Given the description of an element on the screen output the (x, y) to click on. 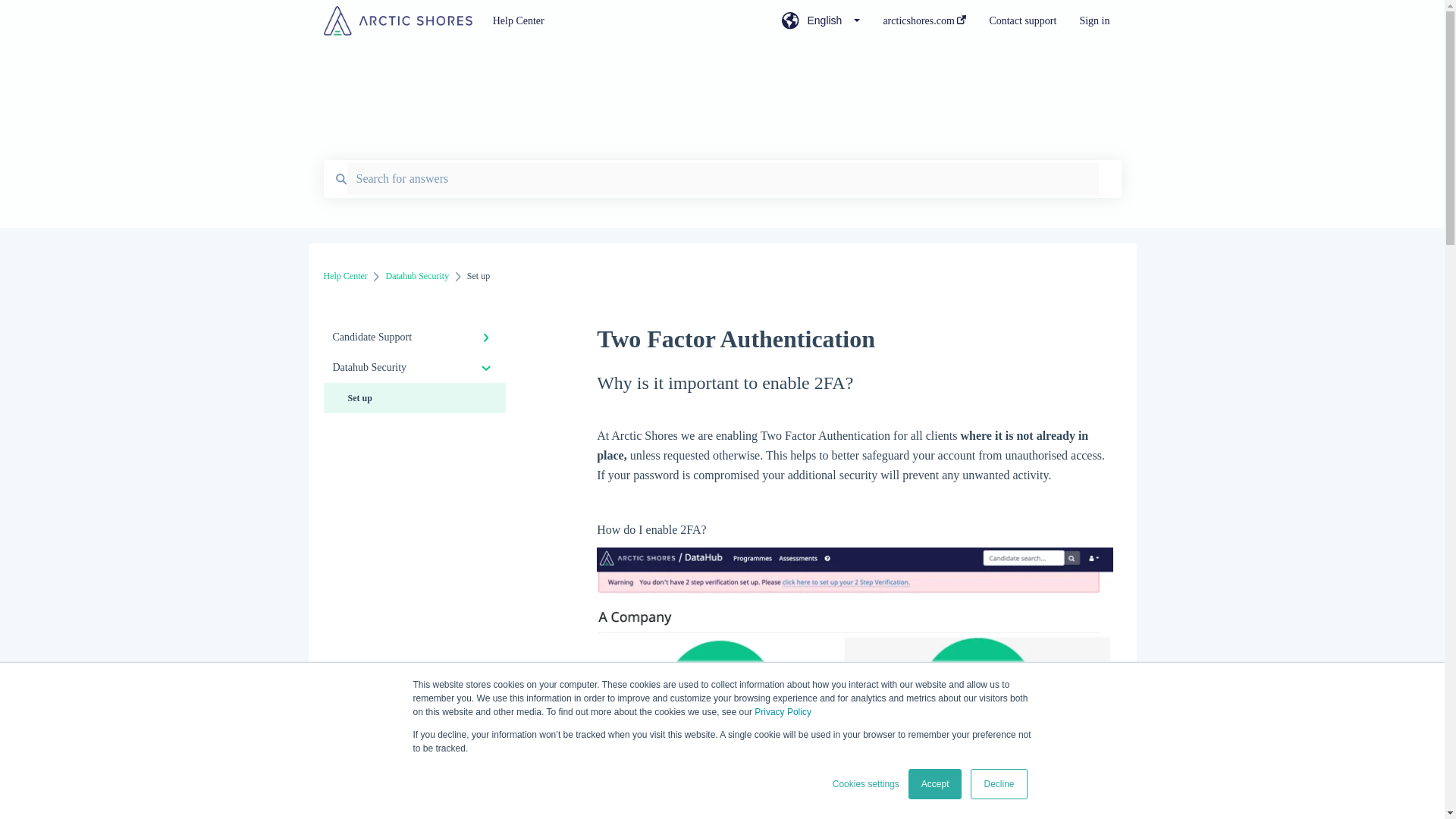
Accept (935, 784)
Candidate Support (414, 337)
Contact support (1022, 25)
Privacy Policy (782, 711)
Help Center (344, 276)
Help Center (614, 21)
arcticshores.com (924, 25)
Cookies settings (865, 784)
Datahub Security (416, 276)
English (820, 25)
